Given the description of an element on the screen output the (x, y) to click on. 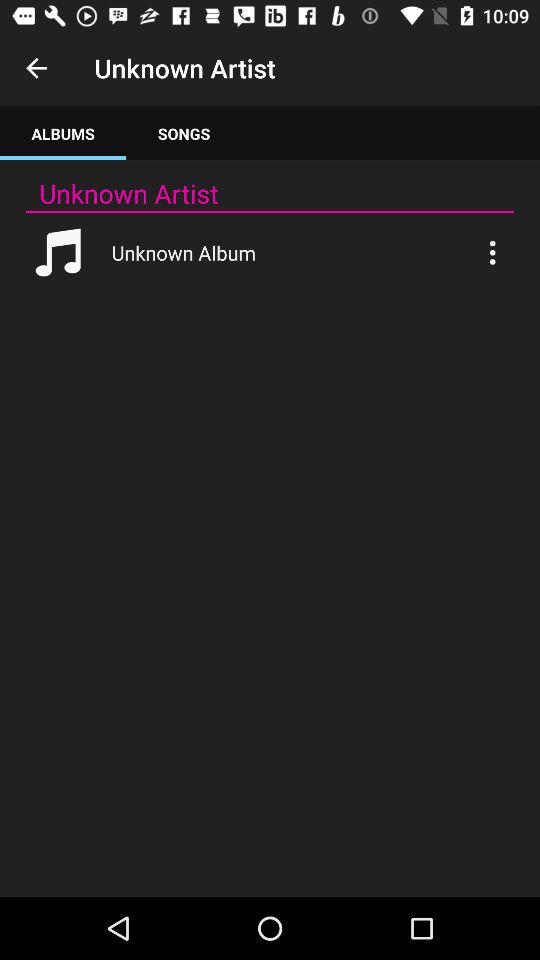
click app next to songs item (63, 133)
